Given the description of an element on the screen output the (x, y) to click on. 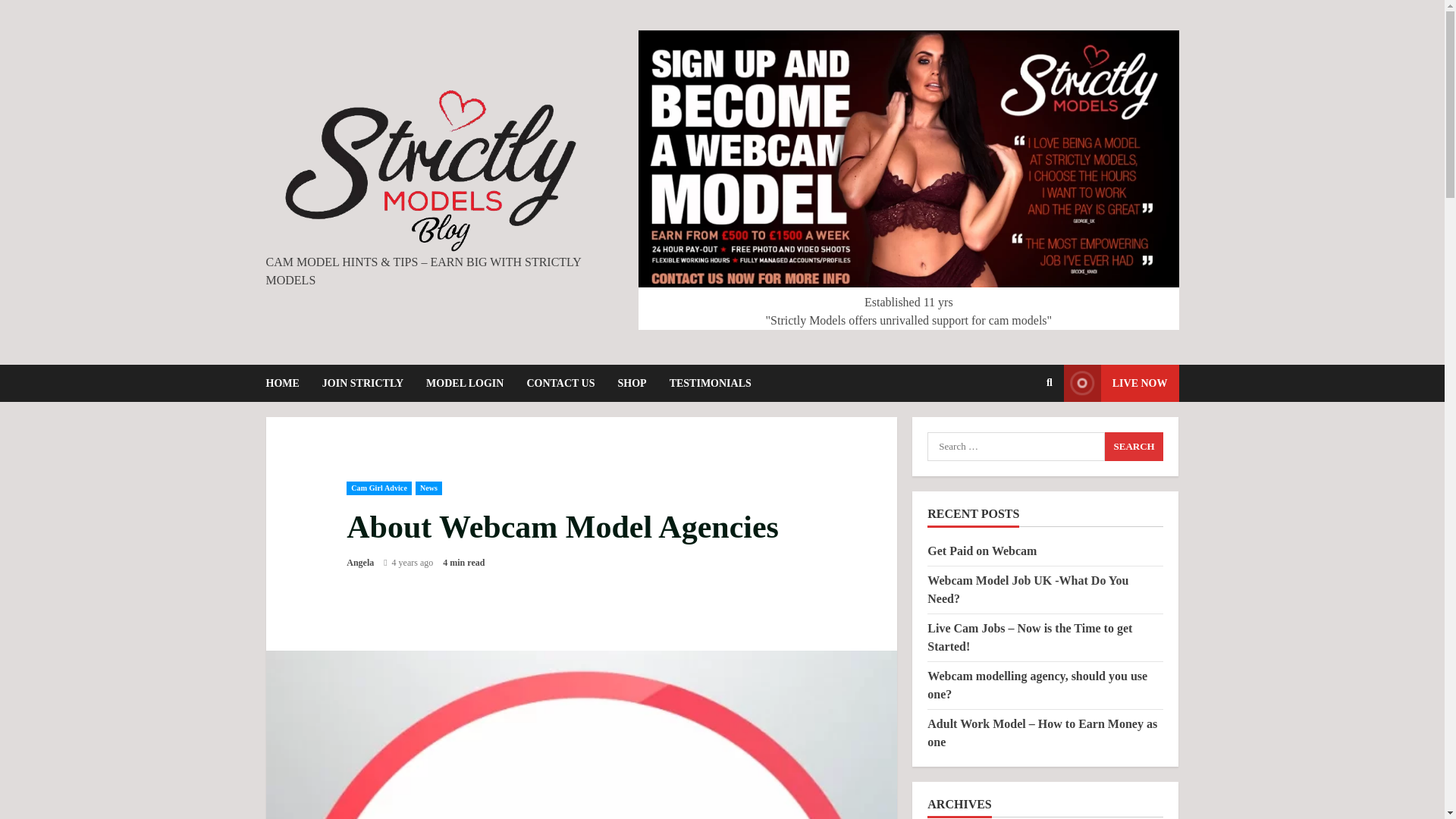
Search (1049, 382)
Search (1134, 446)
Cam Girl Advice (379, 488)
MODEL LOGIN (464, 383)
JOIN STRICTLY (362, 383)
CONTACT US (560, 383)
Get Paid on Webcam (981, 550)
Search (1134, 446)
Webcam modelling agency, should you use one? (1037, 685)
TESTIMONIALS (704, 383)
Webcam Model Job UK -What Do You Need? (1027, 589)
Search (1134, 446)
HOME (287, 383)
LIVE NOW (1121, 383)
SHOP (632, 383)
